Given the description of an element on the screen output the (x, y) to click on. 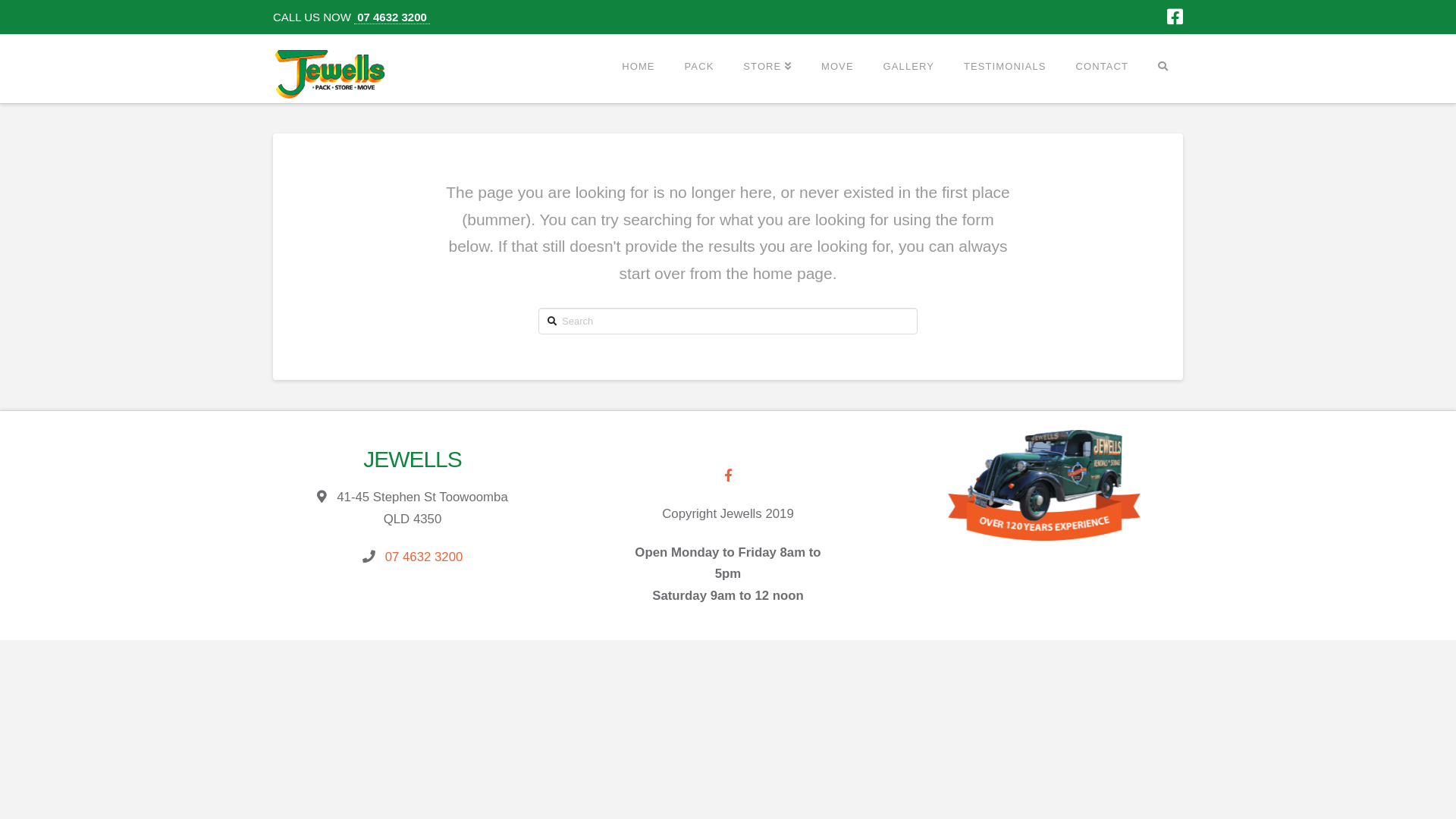
GALLERY Element type: text (908, 65)
STORE Element type: text (767, 65)
TESTIMONIALS Element type: text (1004, 65)
07 4632 3200 Element type: text (424, 556)
CONTACT Element type: text (1101, 65)
Facebook Element type: hover (1175, 16)
PACK Element type: text (698, 65)
 07 4632 3200  Element type: text (391, 17)
HOME Element type: text (637, 65)
MOVE Element type: text (837, 65)
